Given the description of an element on the screen output the (x, y) to click on. 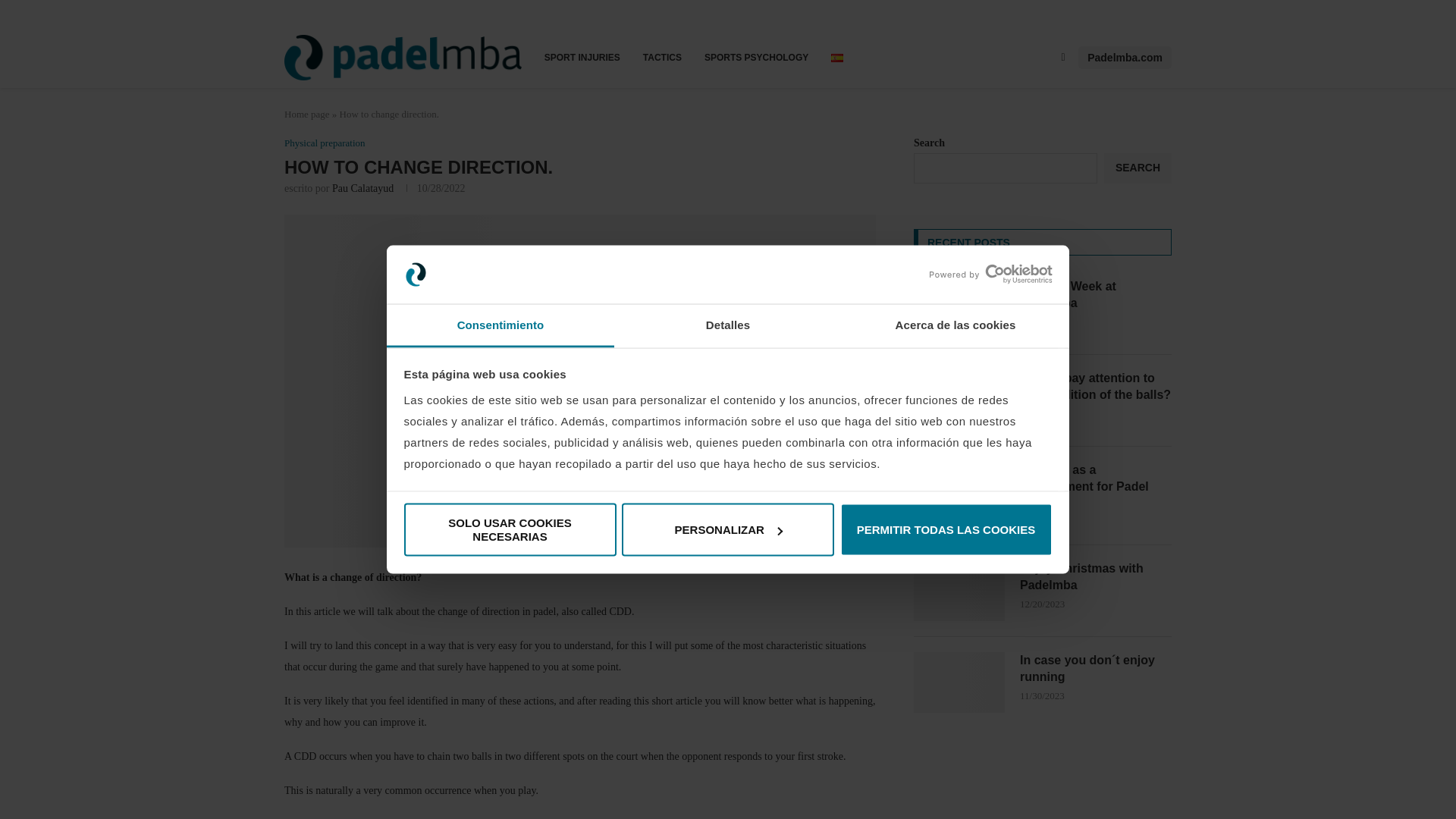
Consentimiento (500, 325)
Detalles (727, 325)
PERSONALIZAR (727, 529)
PERMITIR TODAS LAS COOKIES (946, 529)
SOLO USAR COOKIES NECESARIAS (509, 529)
Acerca de las cookies (954, 325)
